Given the description of an element on the screen output the (x, y) to click on. 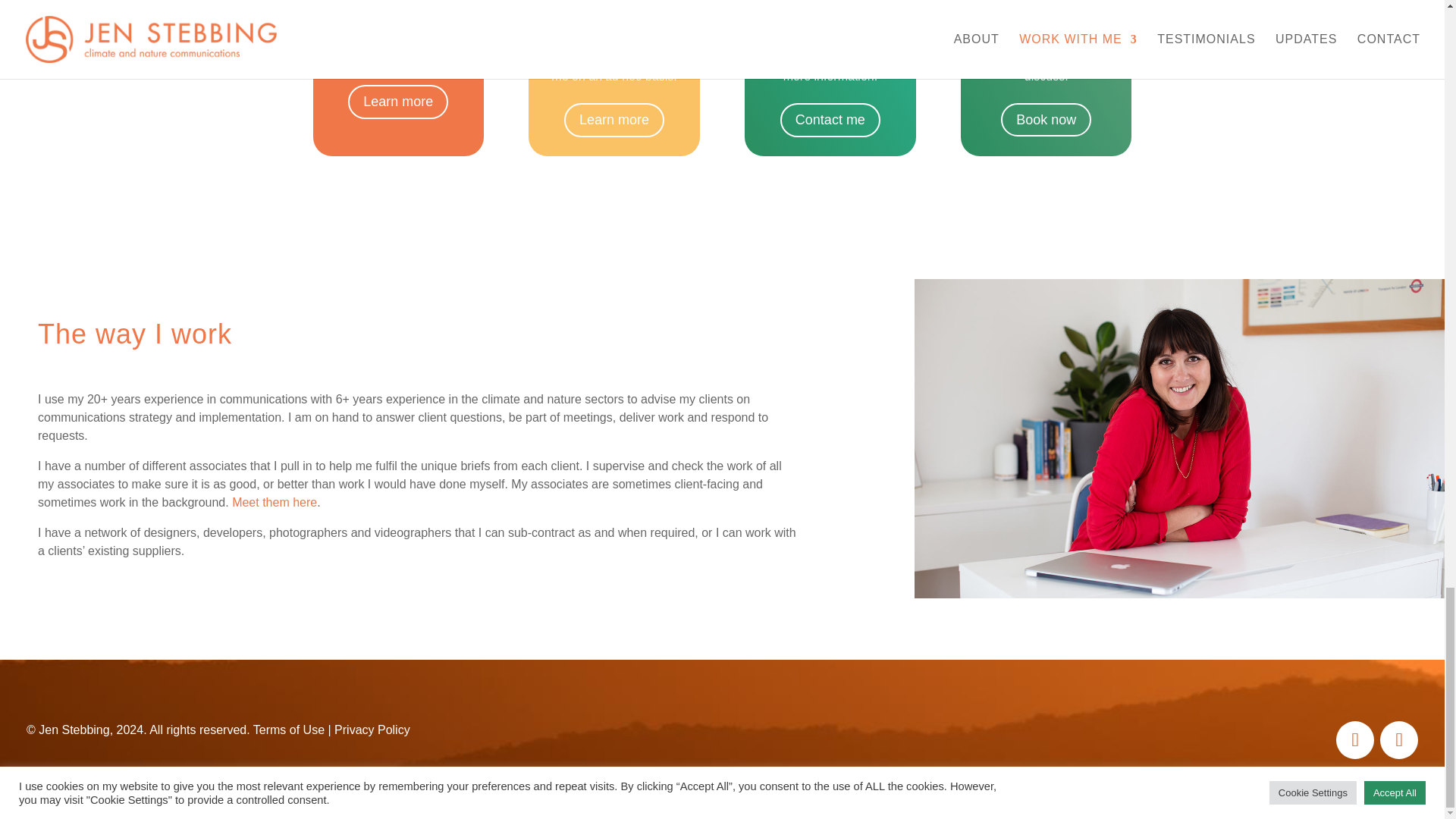
Follow on LinkedIn (1355, 740)
Learn more (397, 101)
Privacy Policy (372, 729)
Learn more (613, 120)
Meet them here (274, 502)
Follow on X (1399, 740)
Book now (1045, 119)
Terms of Use (288, 729)
Contact me (830, 120)
